Given the description of an element on the screen output the (x, y) to click on. 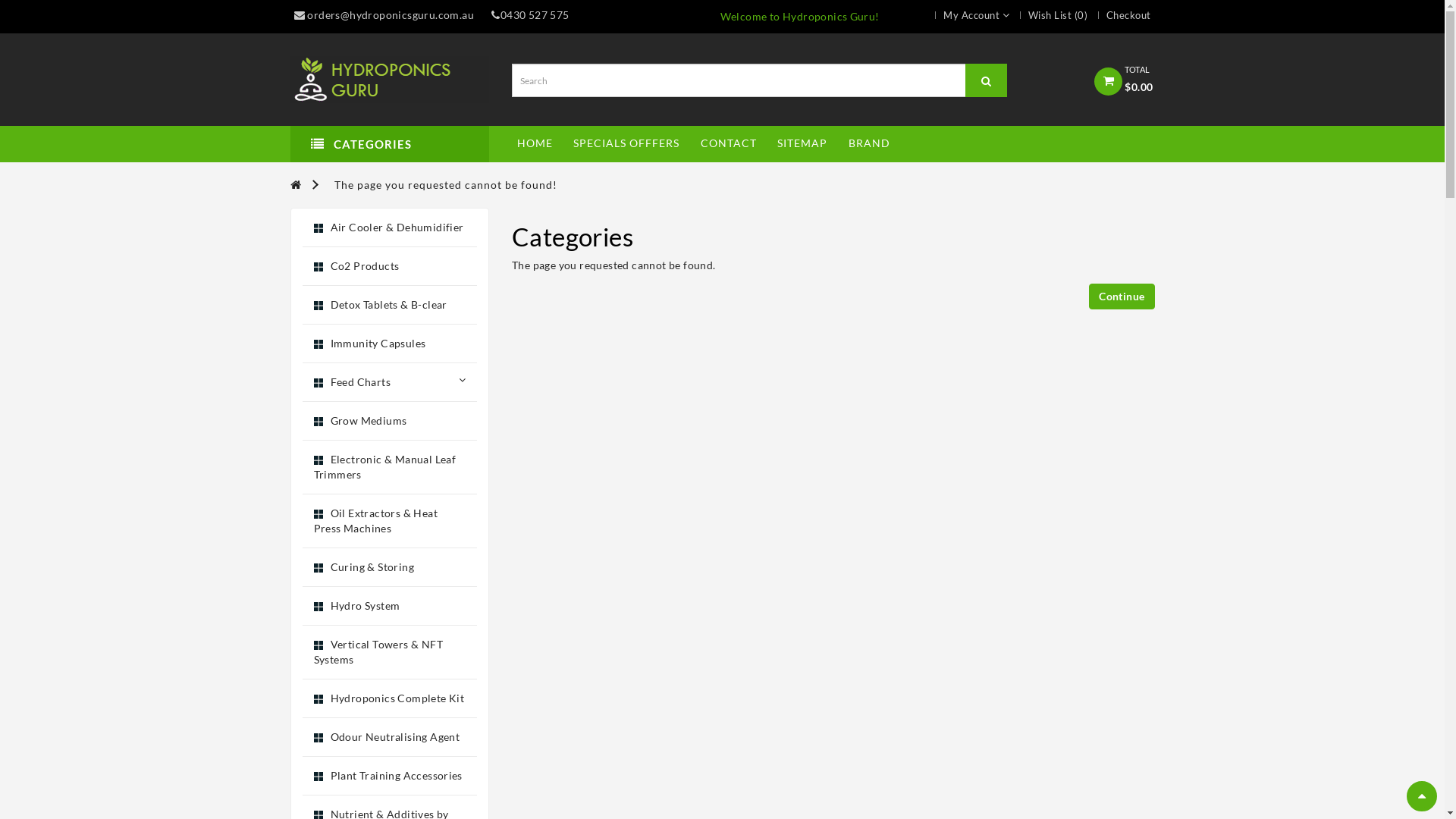
BRAND Element type: text (869, 142)
orders@hydroponicsguru.com.au Element type: text (383, 14)
CONTACT Element type: text (728, 142)
HOME Element type: text (534, 142)
Feed Charts Element type: text (388, 381)
Electronic & Manual Leaf Trimmers Element type: text (388, 466)
SPECIALS OFFFERS Element type: text (626, 142)
Vertical Towers & NFT Systems Element type: text (388, 651)
Detox Tablets & B-clear Element type: text (388, 304)
Hydroponics Complete Kit Element type: text (388, 698)
Curing & Storing Element type: text (388, 566)
Grow Mediums Element type: text (388, 420)
Wish List (0) Element type: text (1050, 15)
Plant Training Accessories Element type: text (388, 775)
Checkout Element type: text (1120, 15)
Hydroponics Guru Element type: hover (388, 79)
Odour Neutralising Agent Element type: text (388, 736)
My Account Element type: text (968, 15)
0430 527 575 Element type: text (529, 14)
TOTAL
$0.00 Element type: text (1123, 72)
Oil Extractors & Heat Press Machines Element type: text (388, 521)
The page you requested cannot be found! Element type: text (445, 183)
Hydro System Element type: text (388, 605)
Co2 Products Element type: text (388, 266)
Air Cooler & Dehumidifier Element type: text (388, 226)
Immunity Capsules Element type: text (388, 343)
Scroll to Top Element type: hover (1421, 796)
Continue Element type: text (1121, 296)
SITEMAP Element type: text (802, 142)
